Given the description of an element on the screen output the (x, y) to click on. 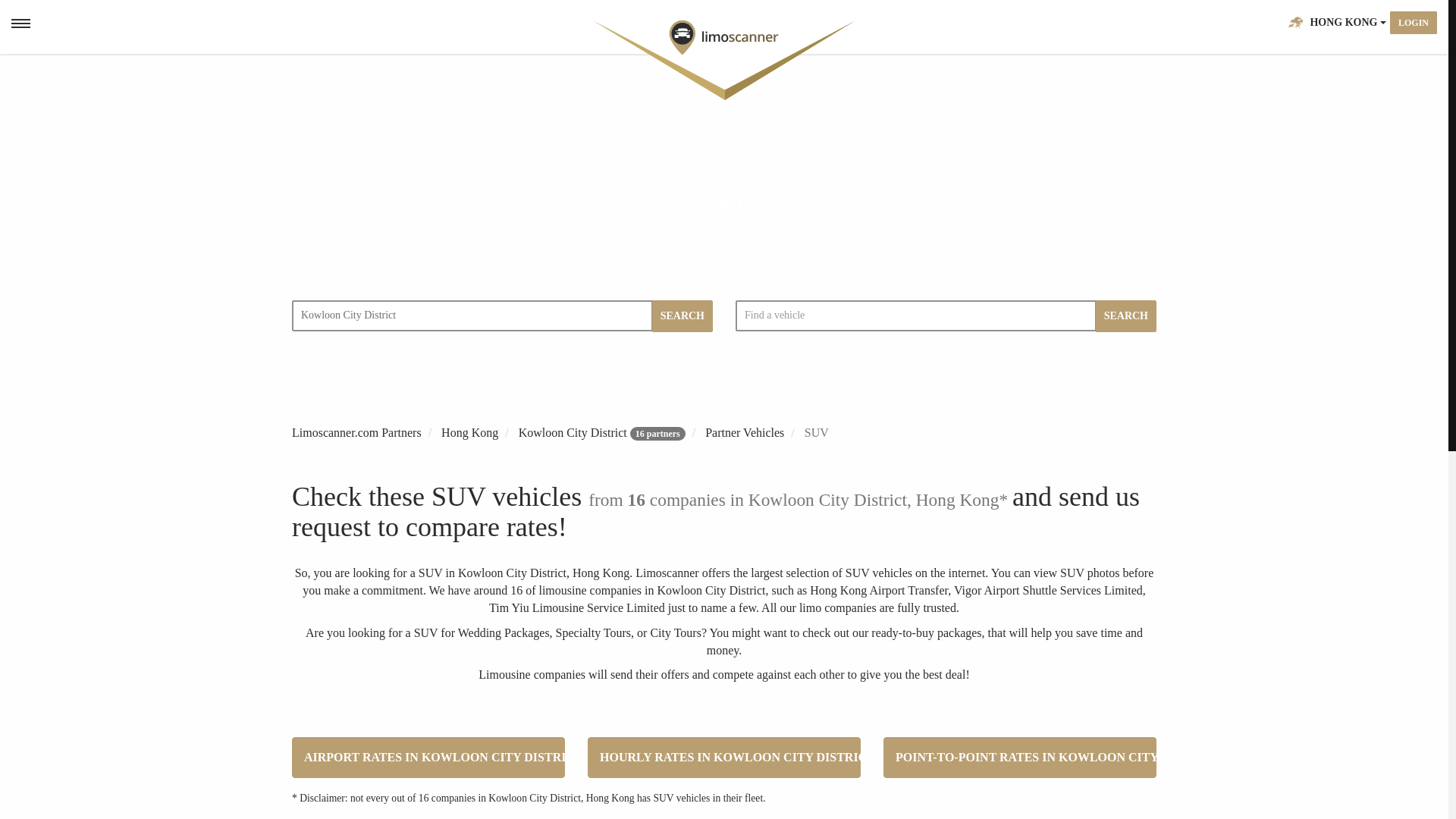
Search (1269, 22)
Limoscanner.com Partners (357, 431)
HOURLY RATES IN KOWLOON CITY DISTRICT (724, 757)
SEARCH (1126, 316)
Kowloon City District (472, 315)
SEARCH (682, 316)
Partner Vehicles (744, 431)
LOGIN (1413, 22)
Hong Kong (469, 431)
Kowloon City District (572, 431)
